Given the description of an element on the screen output the (x, y) to click on. 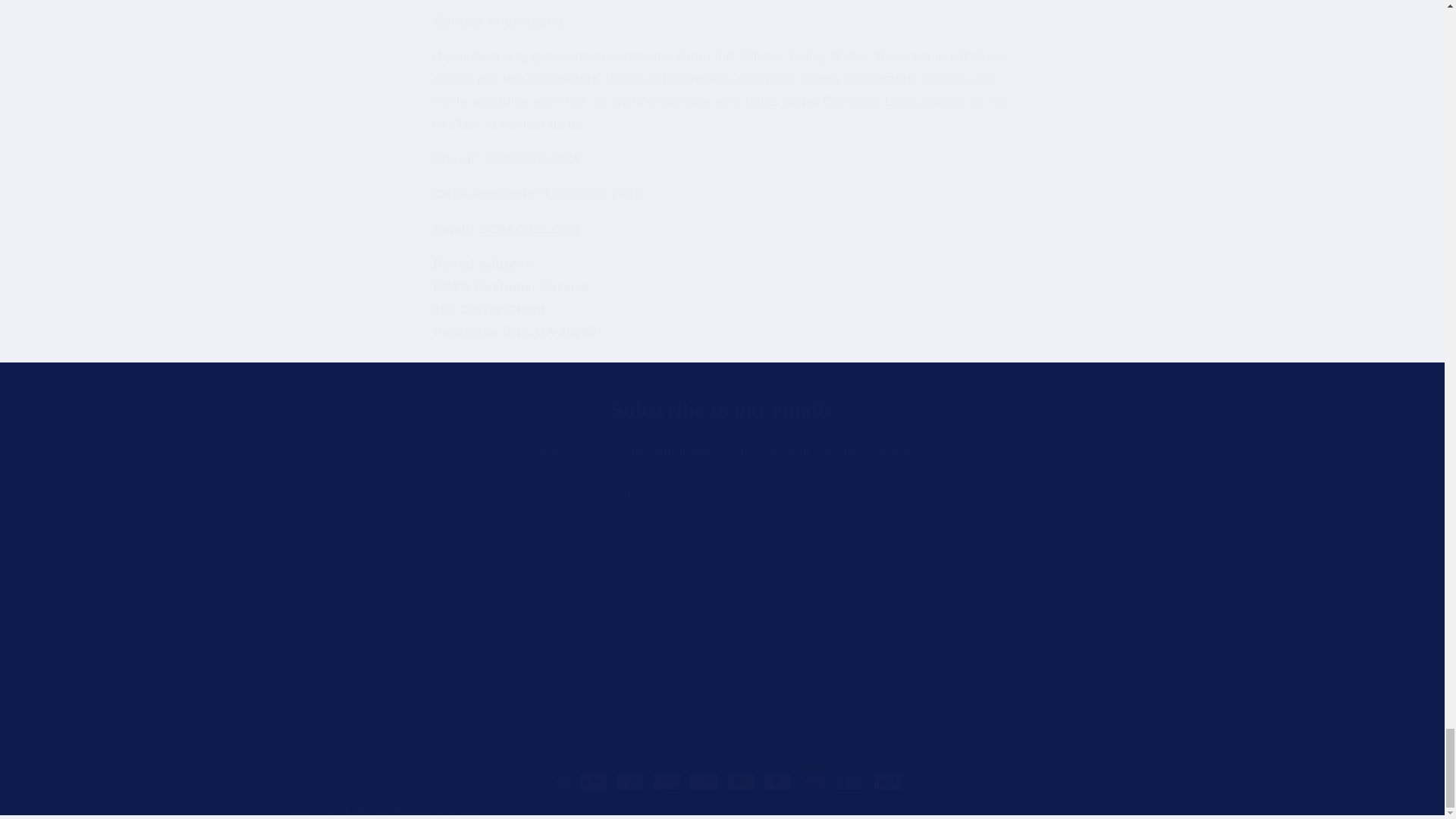
Contact Us (616, 590)
FAQ (624, 616)
Do Not Sell My Personal Information (394, 692)
About The Product (721, 629)
California Privacy Rights and Choices Form (340, 590)
CA PRIVACY POLICY (337, 667)
Terms and Conditions (326, 641)
Subscribe to our emails (349, 616)
FAQ (722, 409)
Email (596, 641)
